Given the description of an element on the screen output the (x, y) to click on. 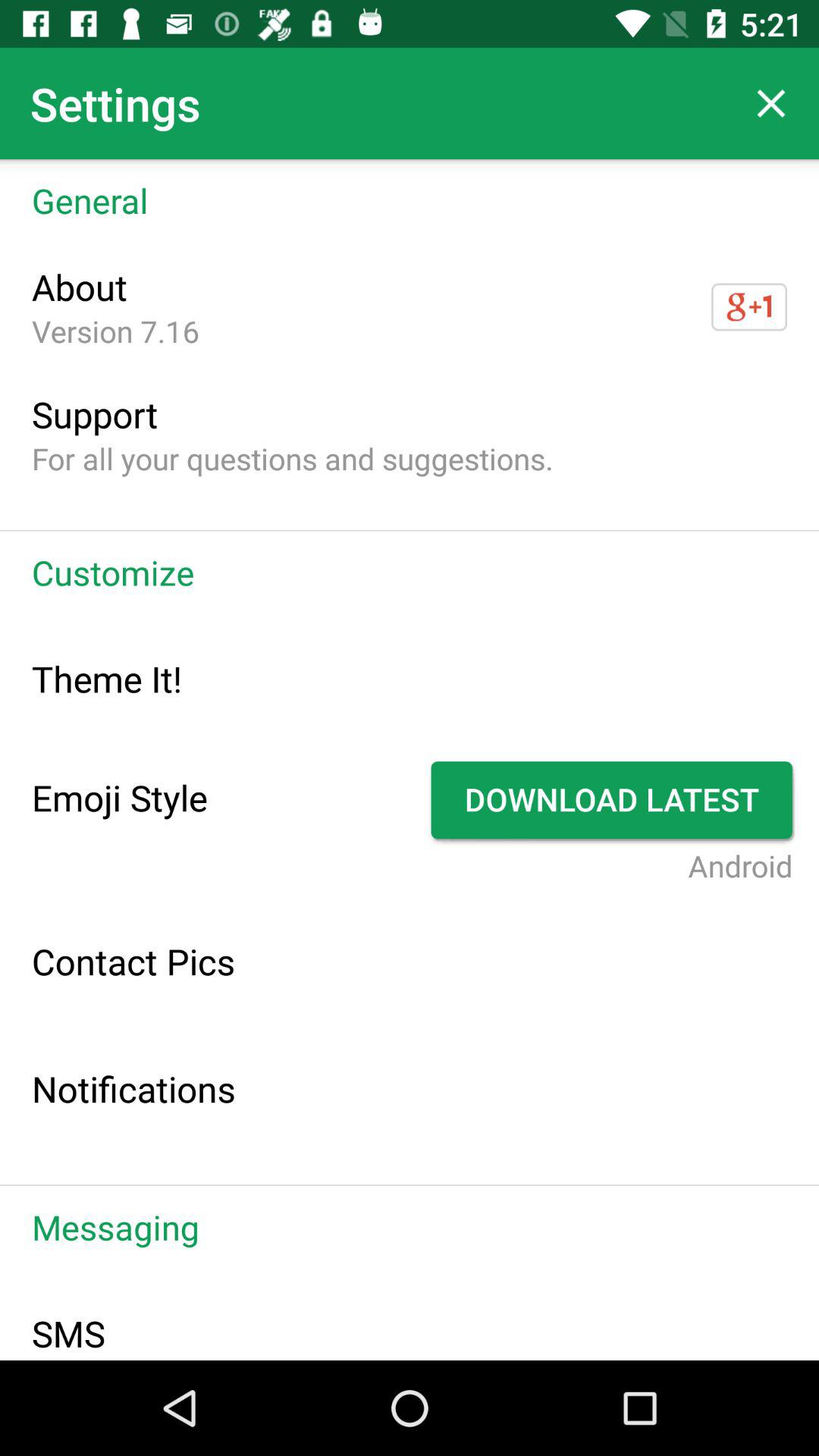
press icon to the right of the settings (771, 103)
